Given the description of an element on the screen output the (x, y) to click on. 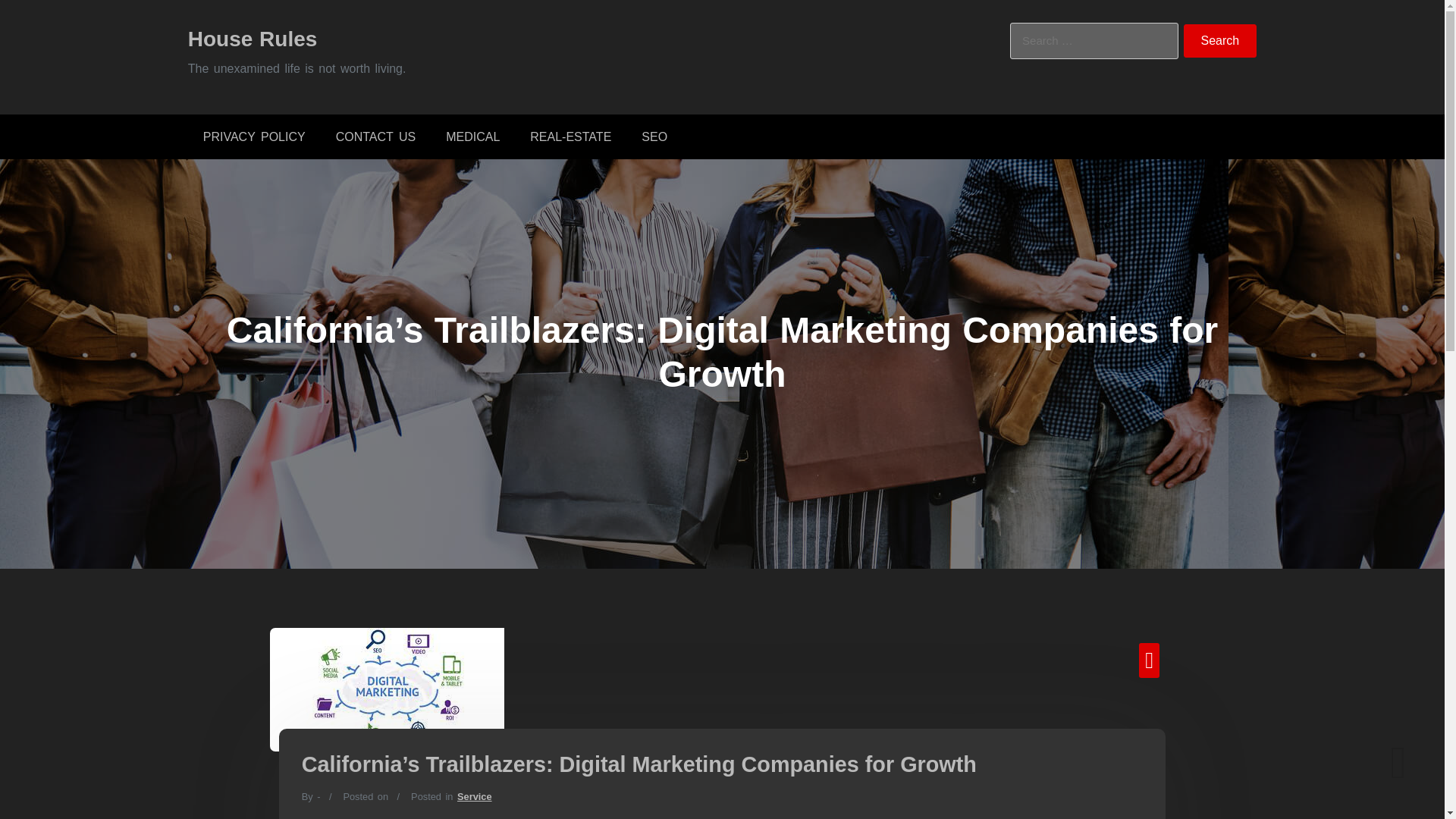
REAL-ESTATE (570, 136)
House Rules (252, 38)
Search (1220, 40)
MEDICAL (472, 136)
SEO (654, 136)
CONTACT US (375, 136)
Search (1220, 40)
Search (1220, 40)
Service (474, 796)
PRIVACY POLICY (253, 136)
